Given the description of an element on the screen output the (x, y) to click on. 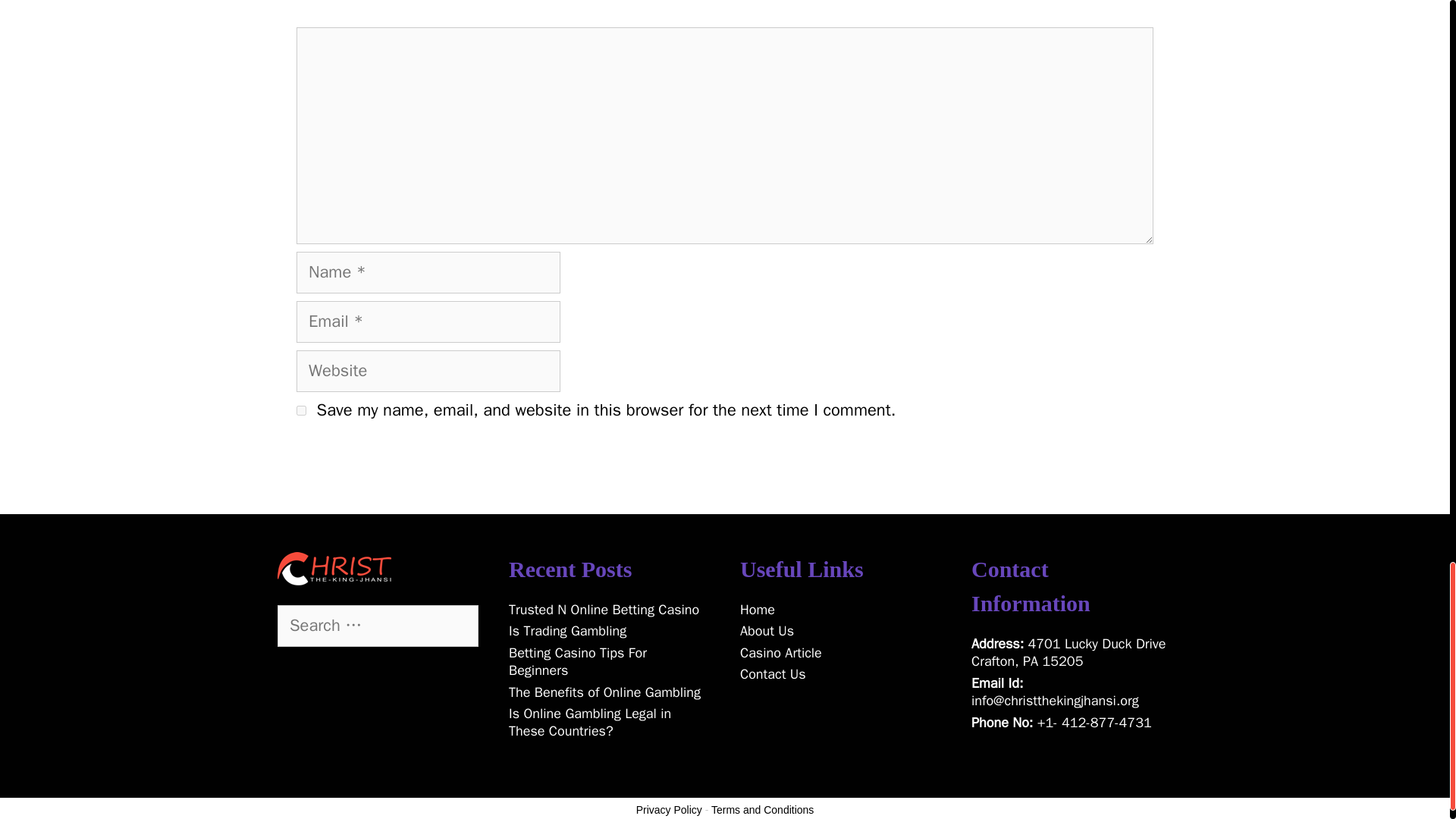
Contact Us (772, 673)
Terms and Conditions (762, 809)
Privacy Policy (668, 809)
yes (301, 410)
Is Trading Gambling (567, 630)
Search for: (378, 626)
The Benefits of Online Gambling (604, 692)
Betting Casino Tips For Beginners (577, 661)
About Us (766, 630)
Home (756, 609)
